Given the description of an element on the screen output the (x, y) to click on. 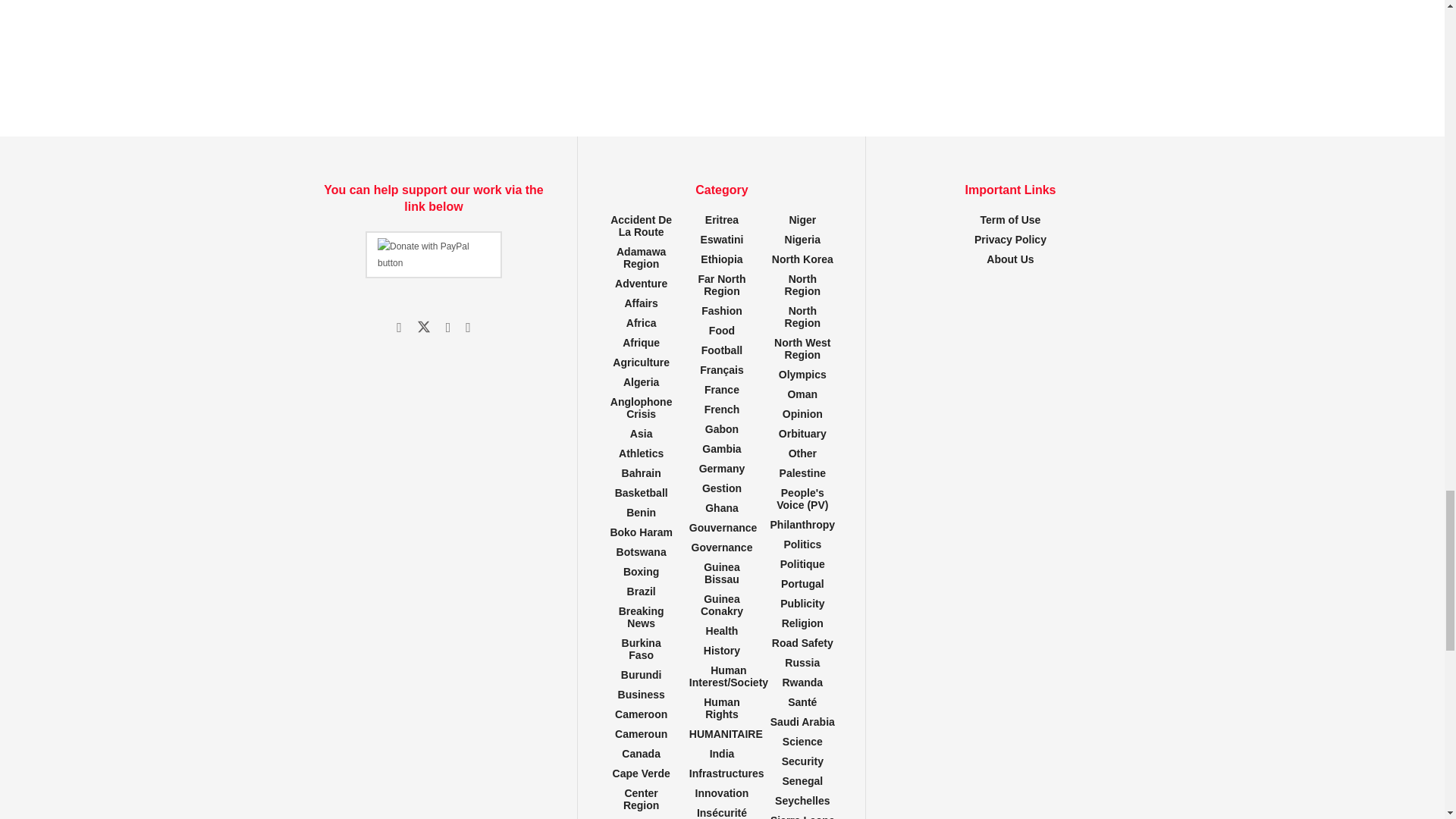
PayPal - The safer, easier way to pay online! (433, 254)
